Given the description of an element on the screen output the (x, y) to click on. 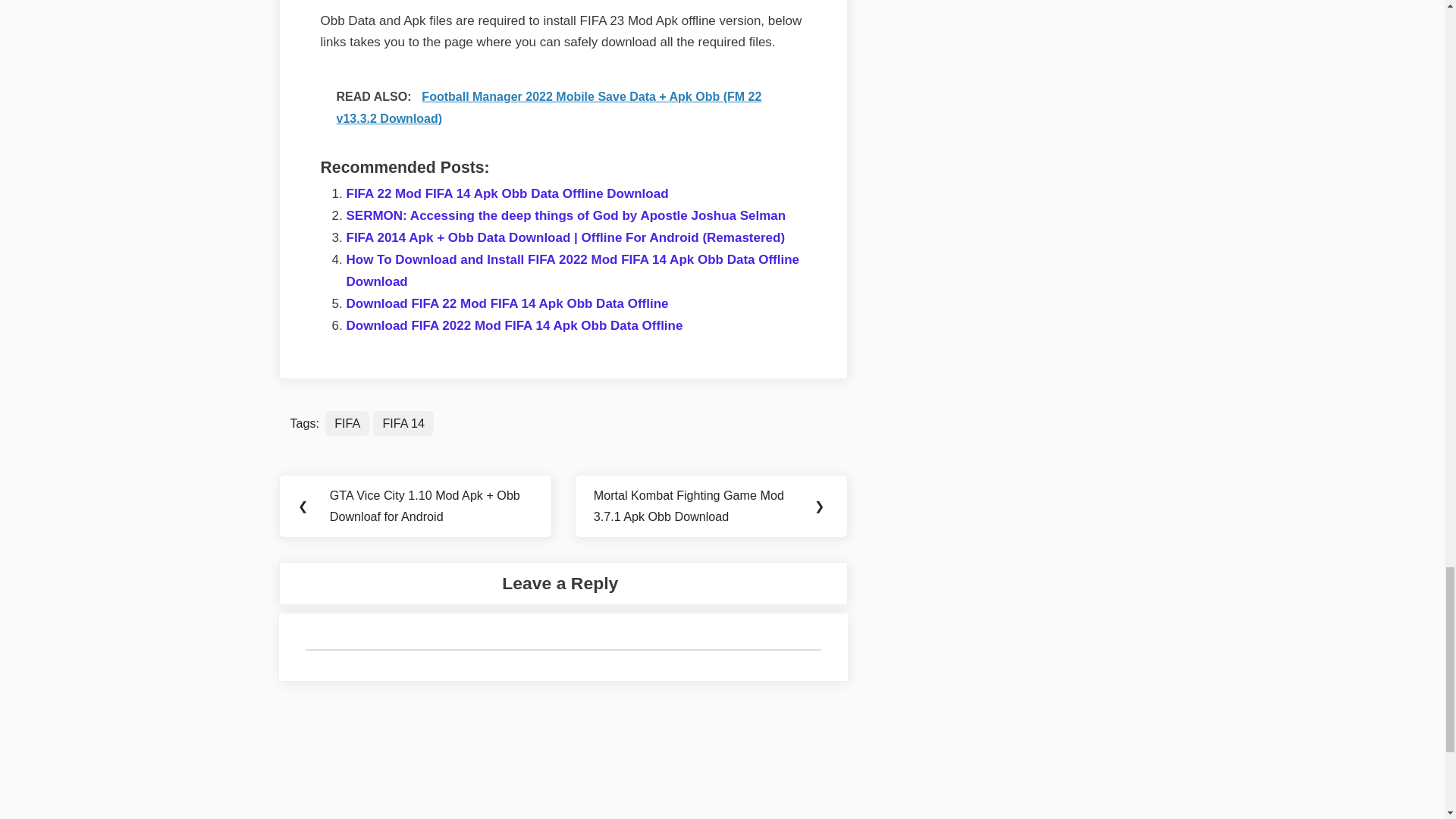
FIFA 22 Mod FIFA 14 Apk Obb Data Offline Download (507, 193)
Download FIFA 2022 Mod FIFA 14 Apk Obb Data Offline (514, 325)
Download FIFA 22 Mod FIFA 14 Apk Obb Data Offline (507, 303)
